Given the description of an element on the screen output the (x, y) to click on. 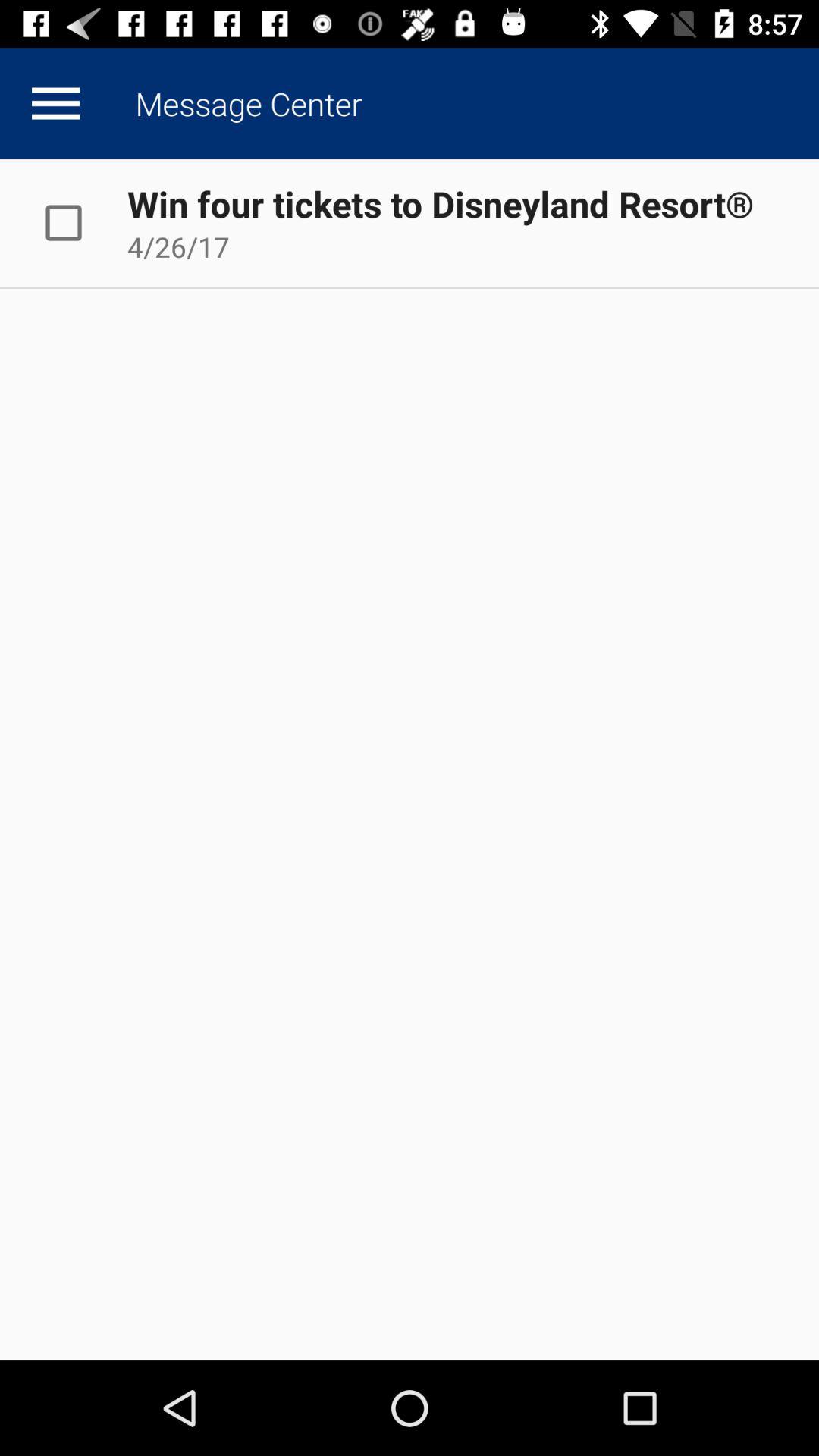
tap the app below the win four tickets (178, 246)
